Given the description of an element on the screen output the (x, y) to click on. 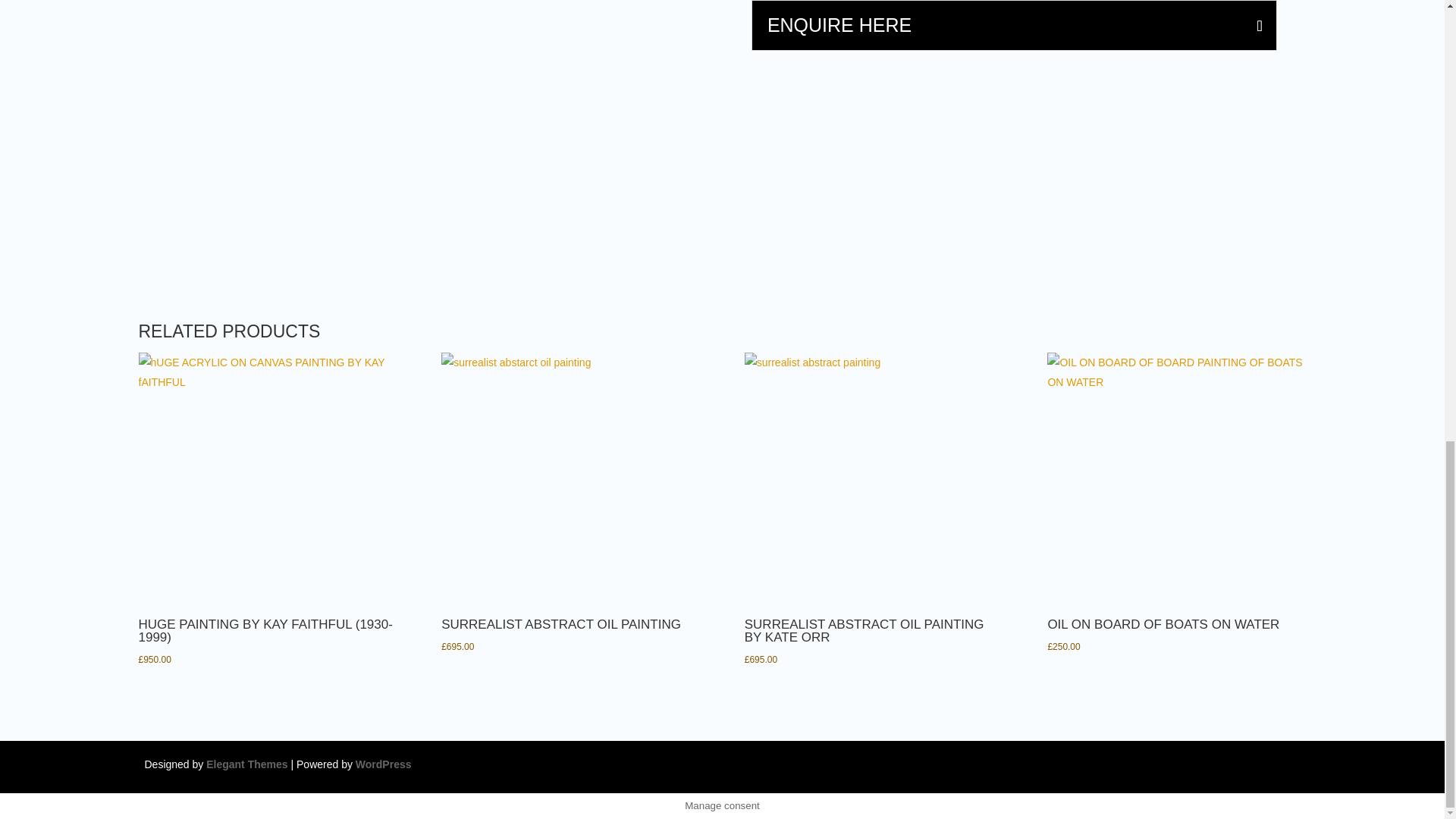
WordPress (383, 764)
Elegant Themes (246, 764)
Premium WordPress Themes (246, 764)
